Given the description of an element on the screen output the (x, y) to click on. 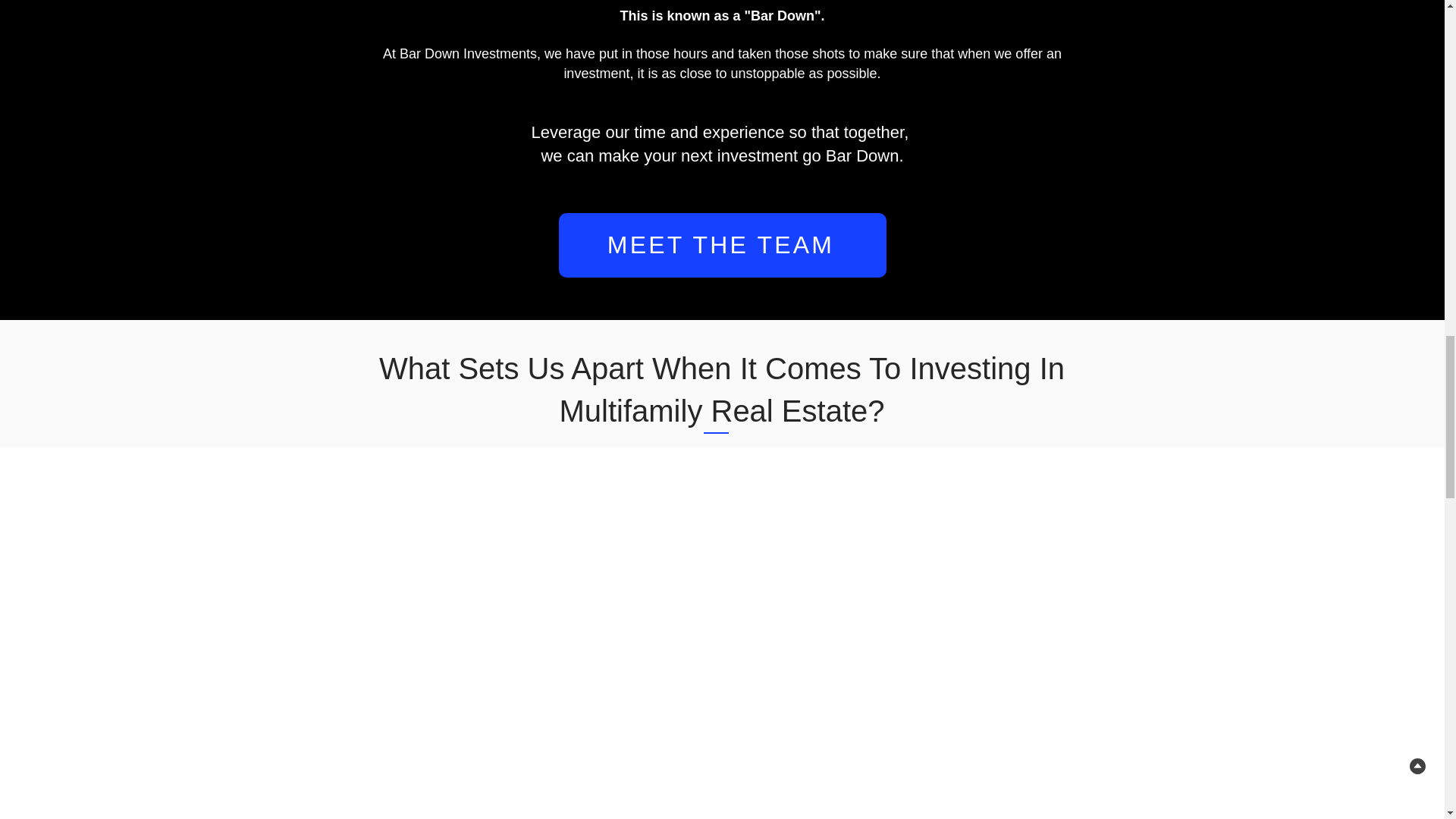
MEET THE TEAM (721, 244)
